Given the description of an element on the screen output the (x, y) to click on. 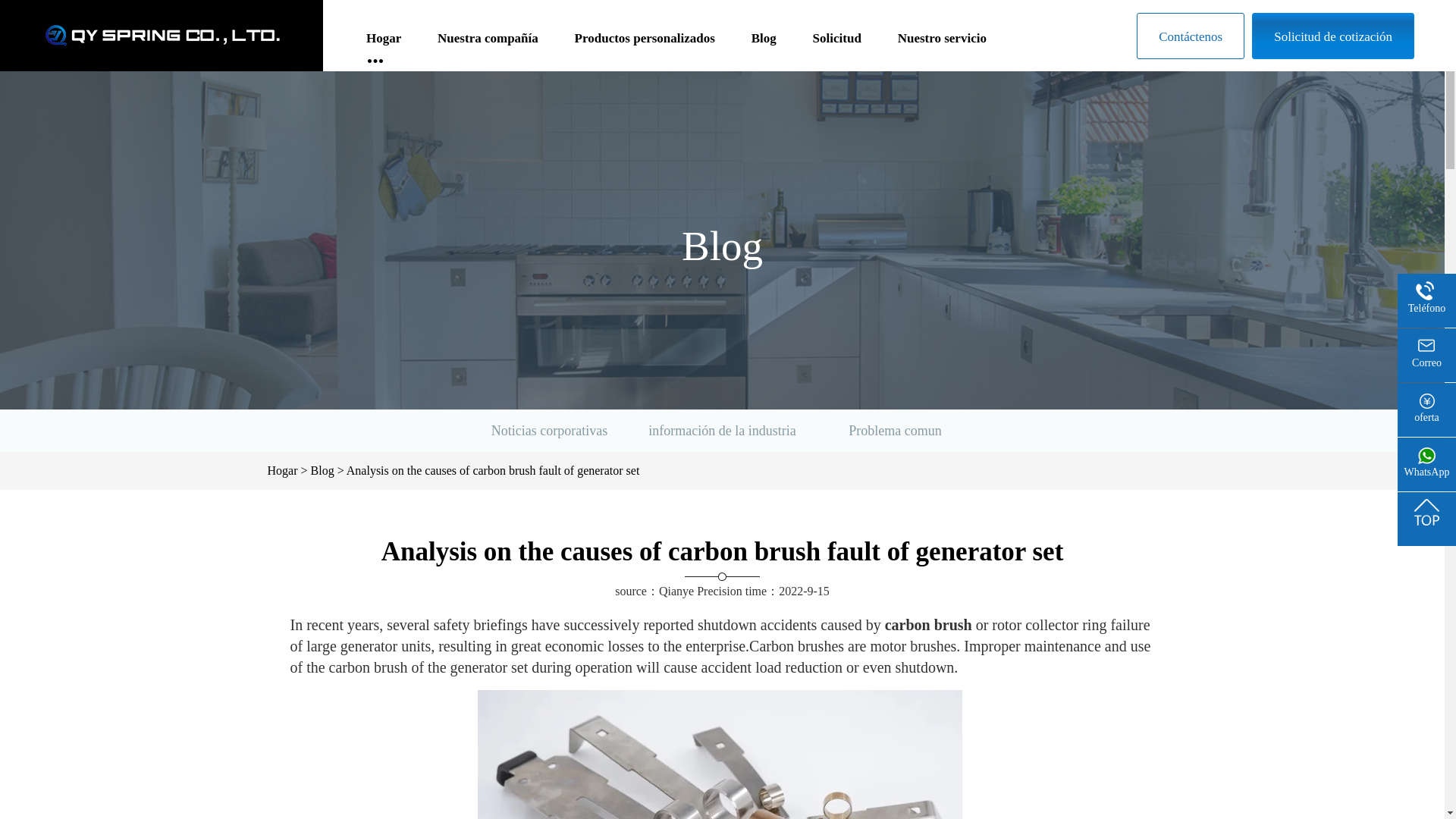
Productos personalizados (644, 45)
Nuestro servicio (942, 45)
Solicitud (836, 45)
